Given the description of an element on the screen output the (x, y) to click on. 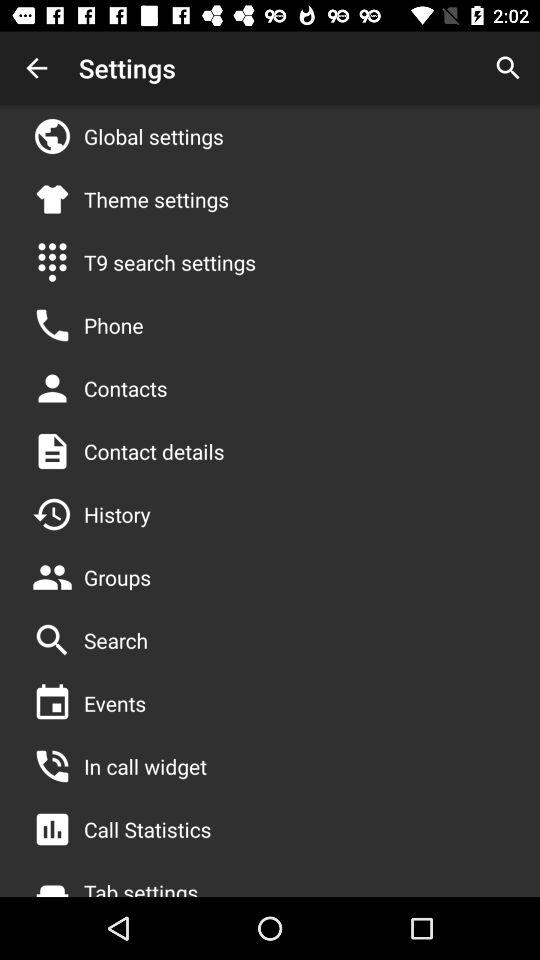
open the app above call statistics (145, 766)
